Given the description of an element on the screen output the (x, y) to click on. 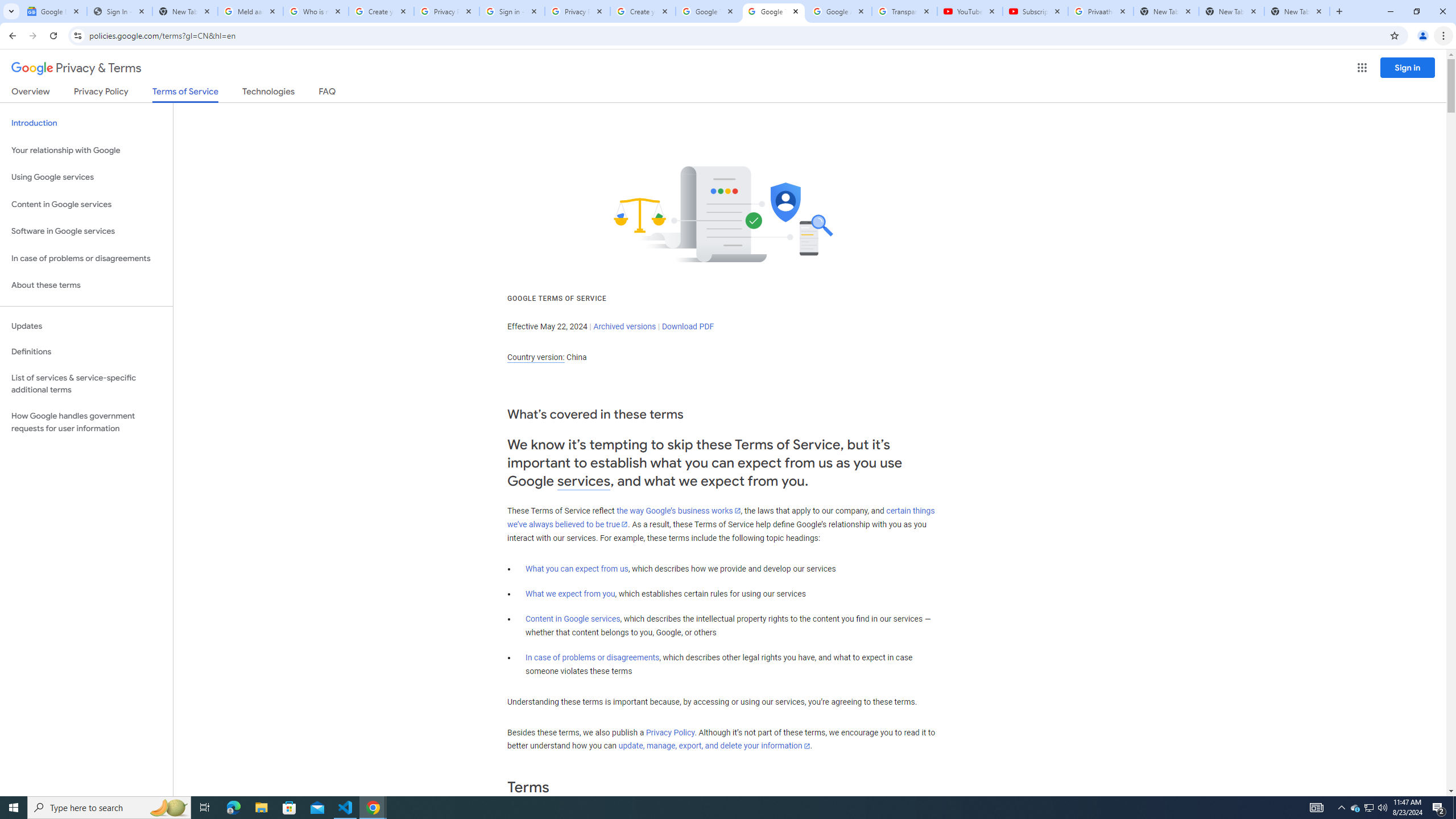
Subscriptions - YouTube (1035, 11)
Software in Google services (86, 230)
update, manage, export, and delete your information (714, 746)
Content in Google services (572, 618)
services (583, 480)
How Google handles government requests for user information (86, 422)
Country version: (535, 357)
